Given the description of an element on the screen output the (x, y) to click on. 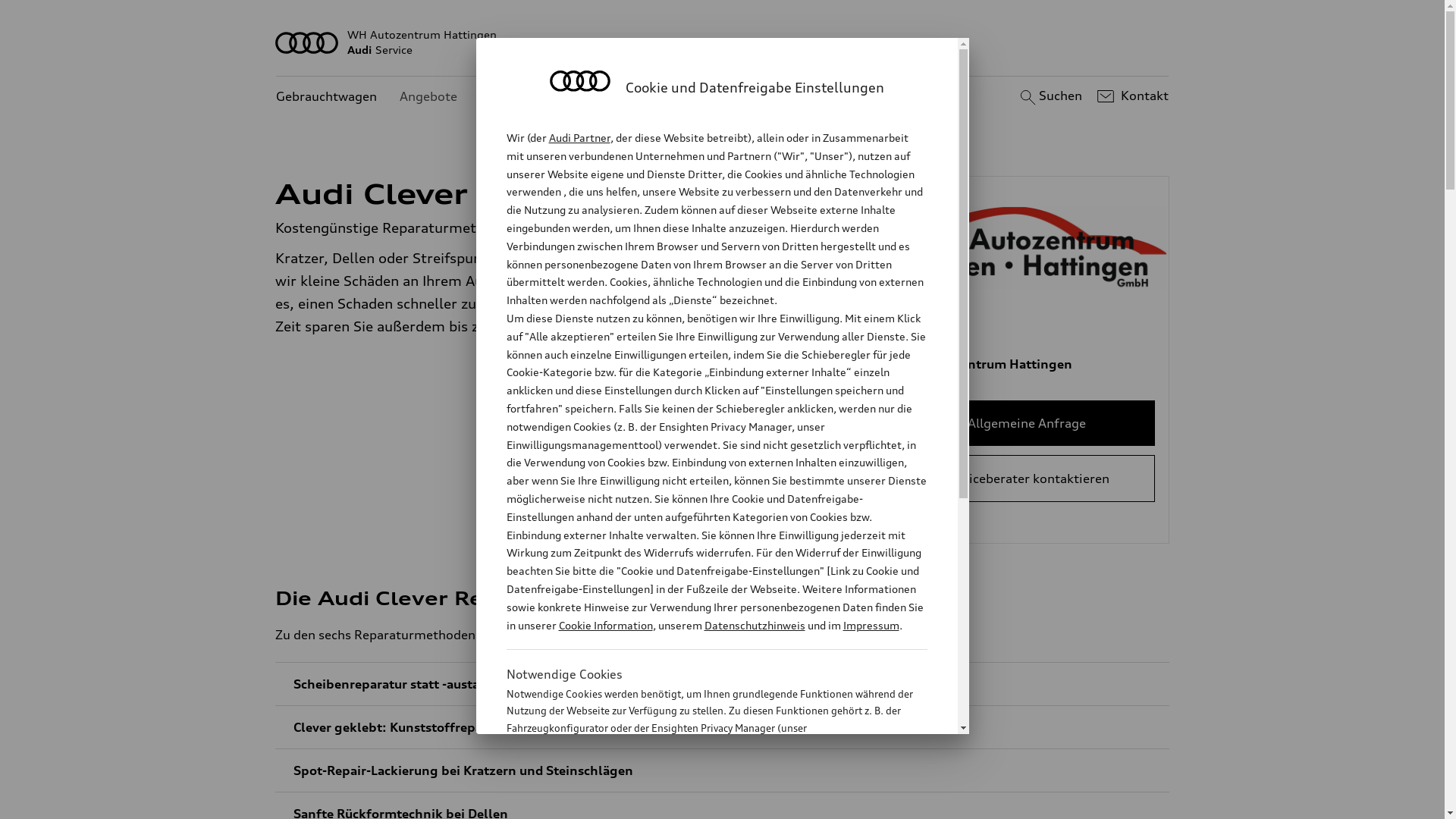
Kontakt Element type: text (1130, 96)
Impressum Element type: text (871, 624)
Serviceberater kontaktieren Element type: text (1025, 478)
Kundenservice Element type: text (523, 96)
Suchen Element type: text (1049, 96)
Allgemeine Anfrage Element type: text (1025, 422)
WH Autozentrum Hattingen
AudiService Element type: text (722, 42)
Gebrauchtwagen Element type: text (326, 96)
Audi Partner Element type: text (579, 137)
Cookie Information Element type: text (700, 802)
Datenschutzhinweis Element type: text (753, 624)
Cookie Information Element type: text (605, 624)
Angebote Element type: text (428, 96)
